Given the description of an element on the screen output the (x, y) to click on. 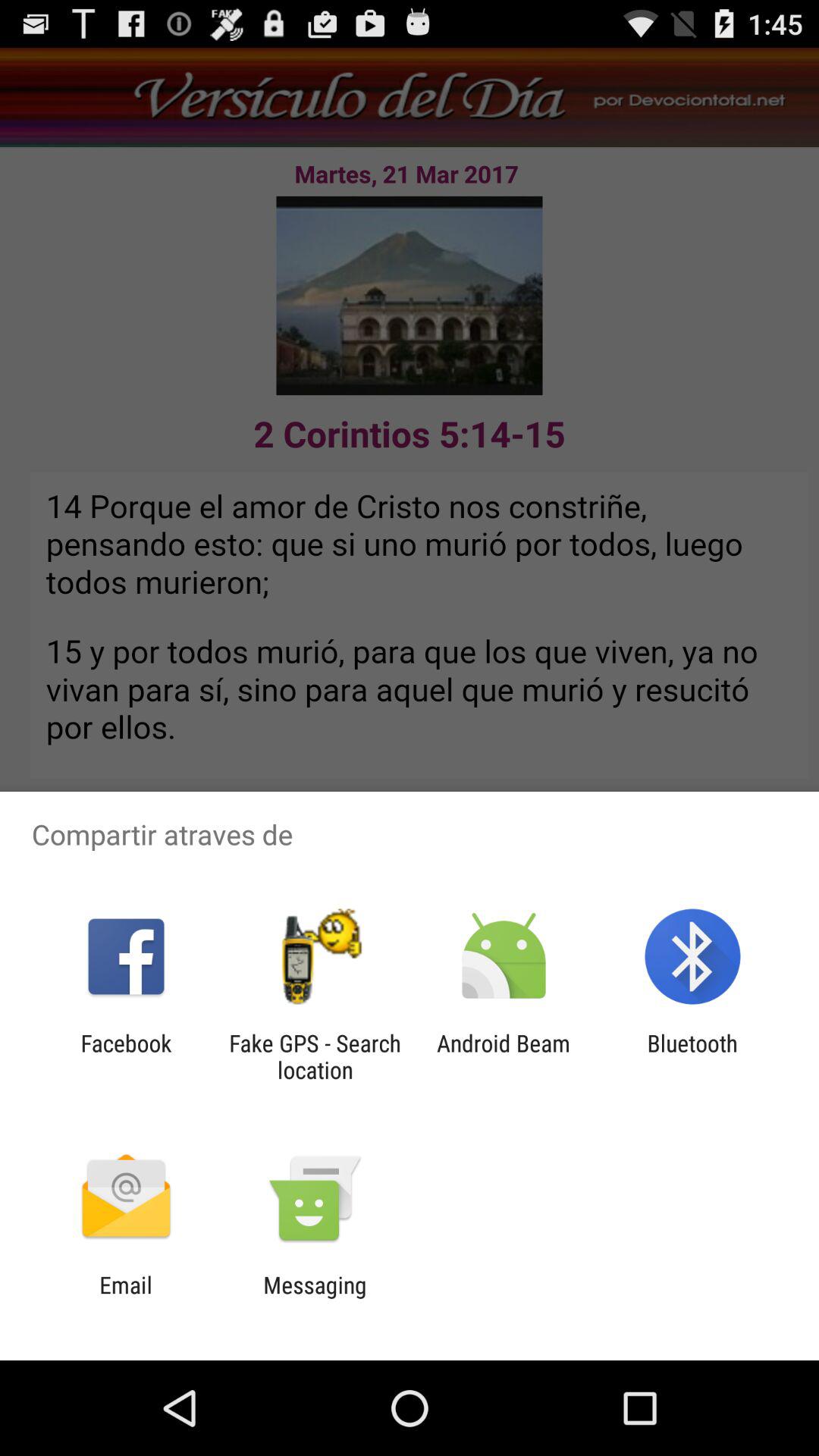
select item next to the fake gps search icon (125, 1056)
